Given the description of an element on the screen output the (x, y) to click on. 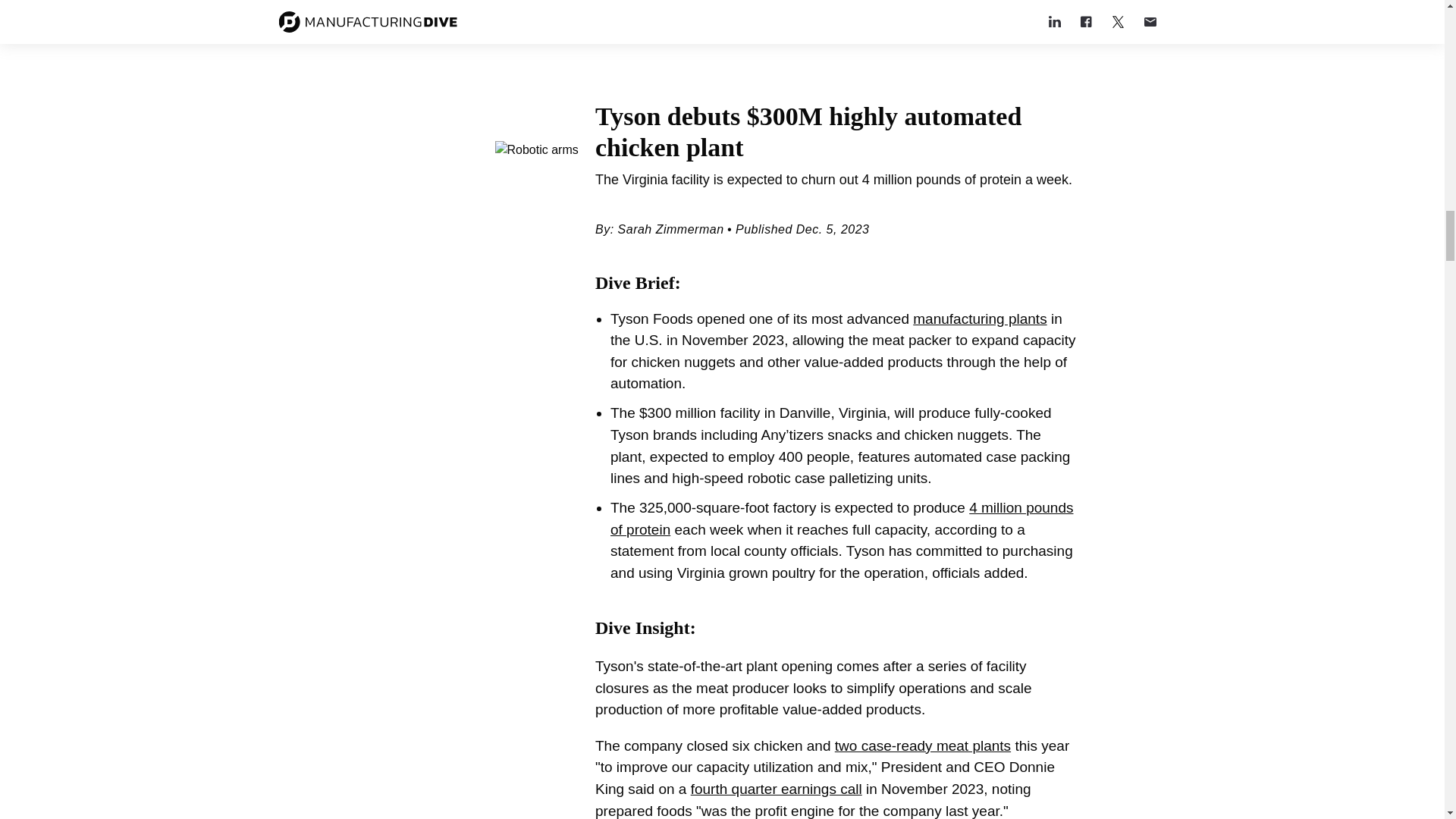
fourth quarter earnings call (775, 788)
4 million pounds of protein (842, 518)
manufacturing plants (979, 318)
two case-ready meat plants (922, 745)
